Given the description of an element on the screen output the (x, y) to click on. 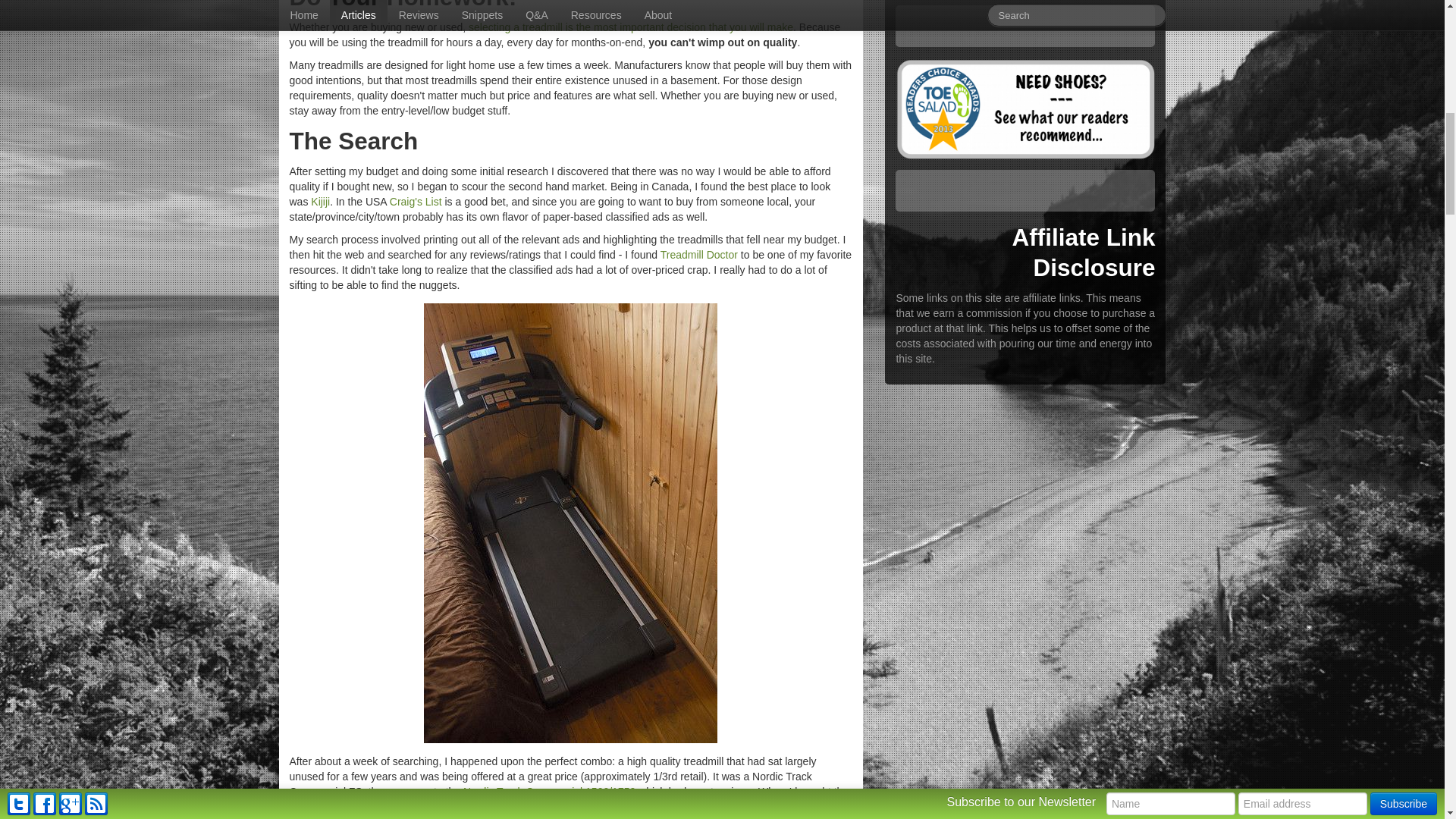
Treadmill Doctor (699, 254)
Craig's List (416, 201)
Kijiji (320, 201)
